Given the description of an element on the screen output the (x, y) to click on. 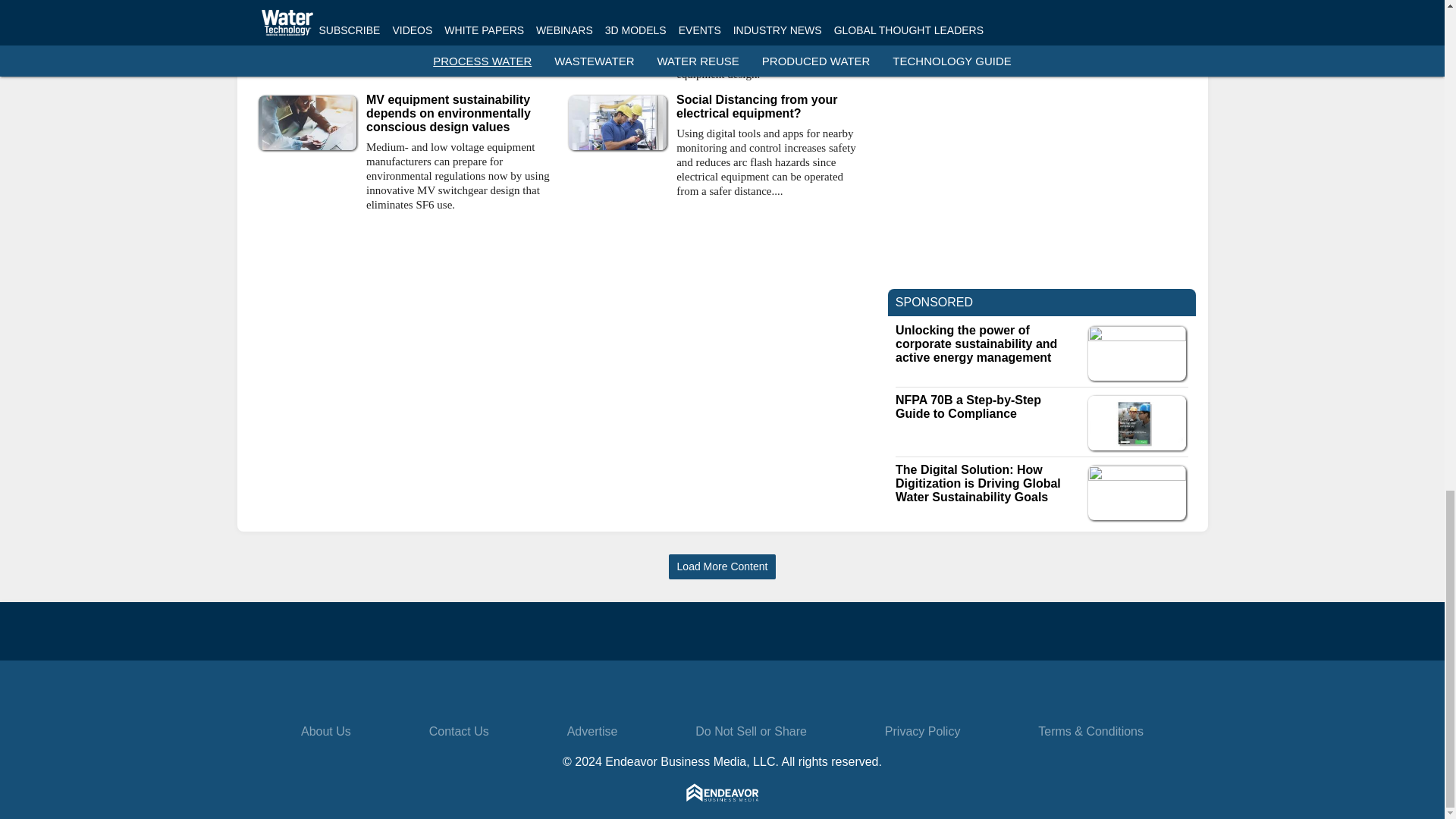
Social Distancing from your electrical equipment? (770, 106)
